Given the description of an element on the screen output the (x, y) to click on. 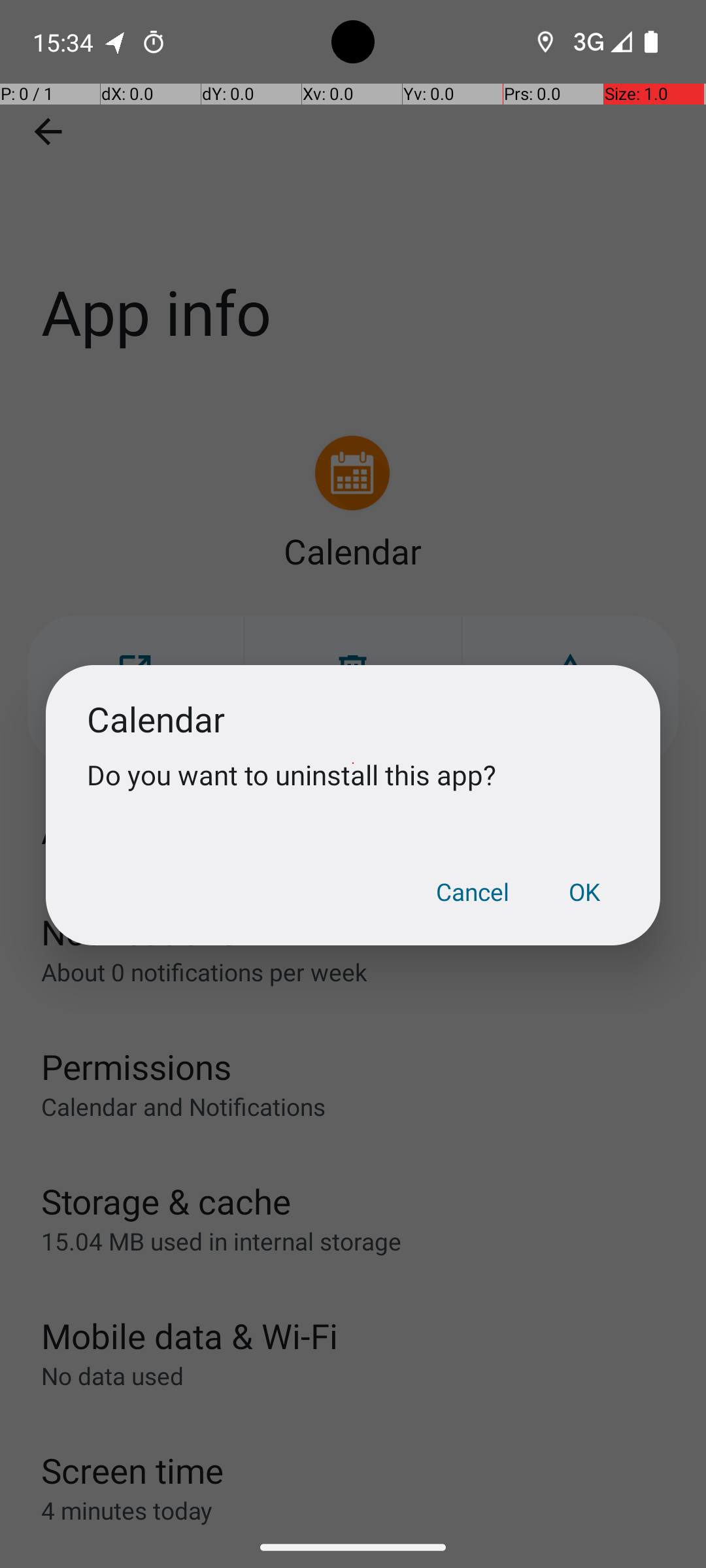
Do you want to uninstall this app? Element type: android.widget.TextView (352, 774)
